Given the description of an element on the screen output the (x, y) to click on. 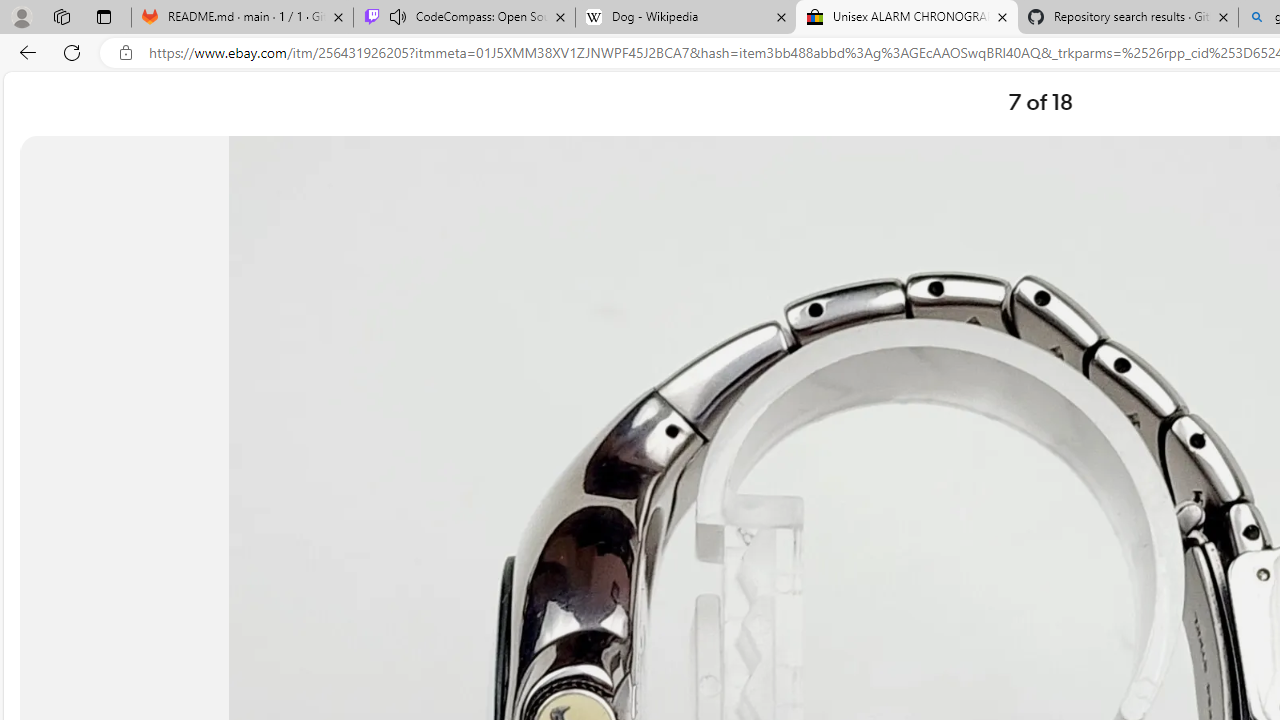
Dog - Wikipedia (686, 17)
Mute tab (397, 16)
